Given the description of an element on the screen output the (x, y) to click on. 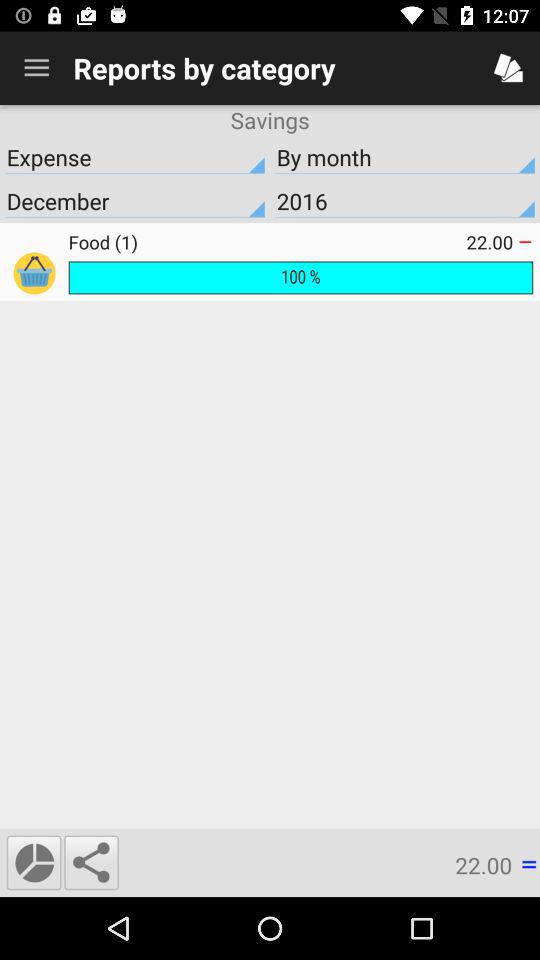
scroll to expense item (135, 157)
